Given the description of an element on the screen output the (x, y) to click on. 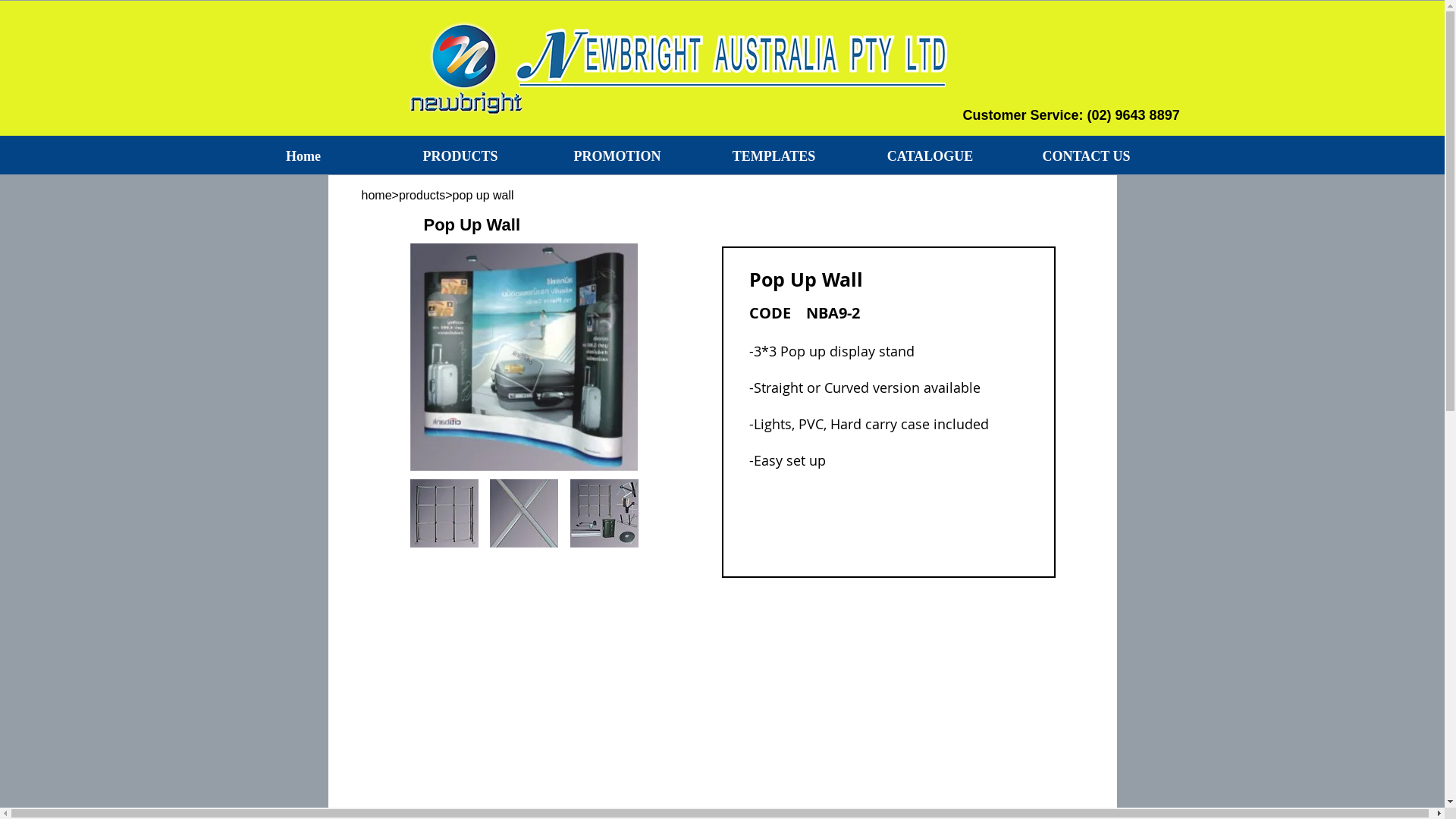
products Element type: text (421, 194)
CATALOGUE Element type: text (930, 156)
PRODUCTS Element type: text (460, 156)
CONTACT US Element type: text (1086, 156)
pop up wall                                  Element type: text (538, 194)
Home Element type: text (302, 156)
PROMOTION Element type: text (616, 156)
TEMPLATES Element type: text (774, 156)
home Element type: text (375, 194)
